Given the description of an element on the screen output the (x, y) to click on. 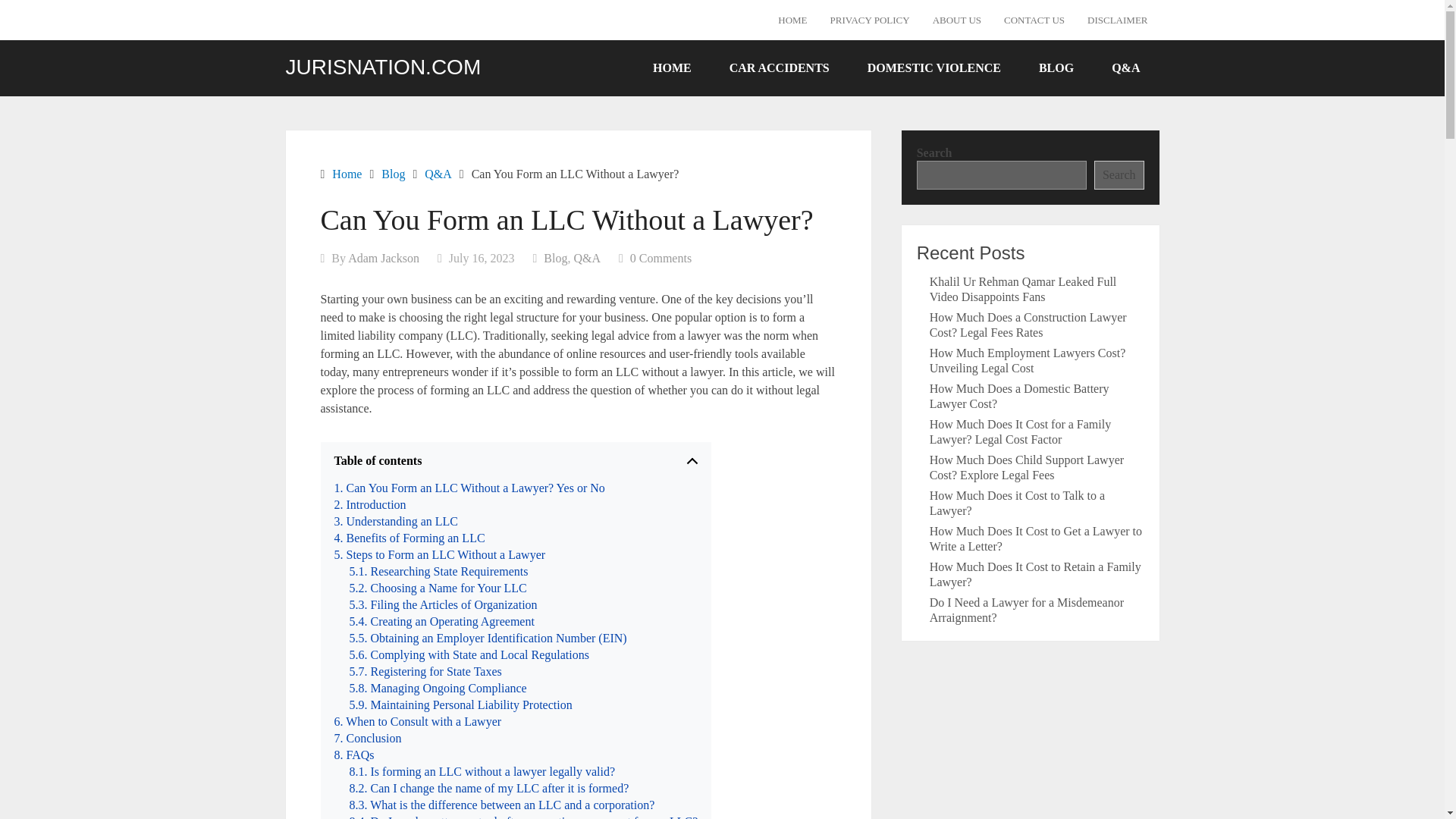
Filing the Articles of Organization (443, 605)
Can You Form an LLC Without a Lawyer? Yes or No (468, 487)
FAQs (353, 754)
CAR ACCIDENTS (779, 67)
Researching State Requirements (438, 571)
JURISNATION.COM (382, 66)
DOMESTIC VIOLENCE (934, 67)
BLOG (1056, 67)
Choosing a Name for Your LLC (437, 588)
0 Comments (660, 257)
Posts by Adam Jackson (383, 257)
Researching State Requirements (438, 571)
Introduction (369, 504)
Introduction (369, 504)
Choosing a Name for Your LLC (437, 588)
